Given the description of an element on the screen output the (x, y) to click on. 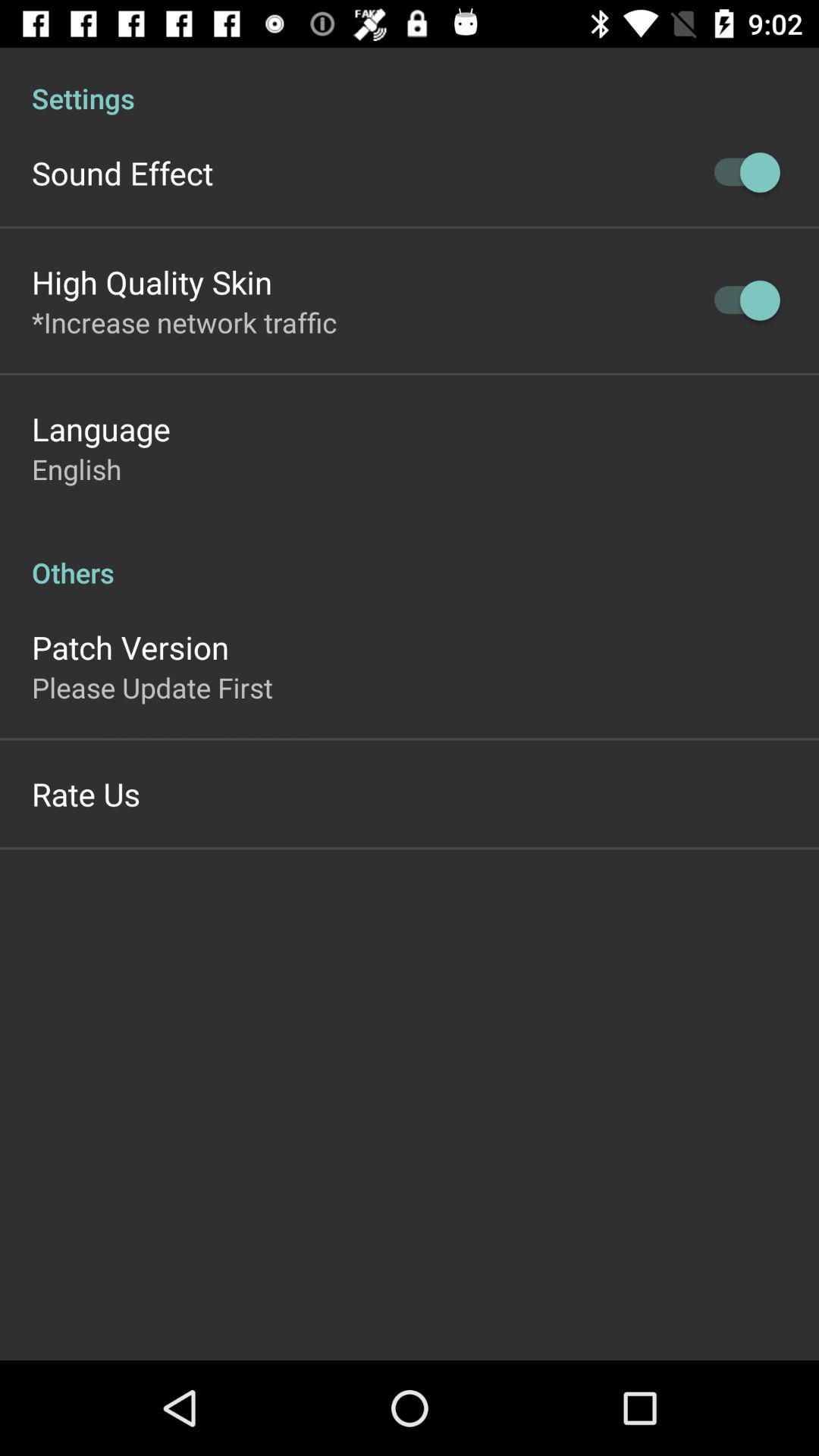
turn on the icon below the others item (130, 646)
